Given the description of an element on the screen output the (x, y) to click on. 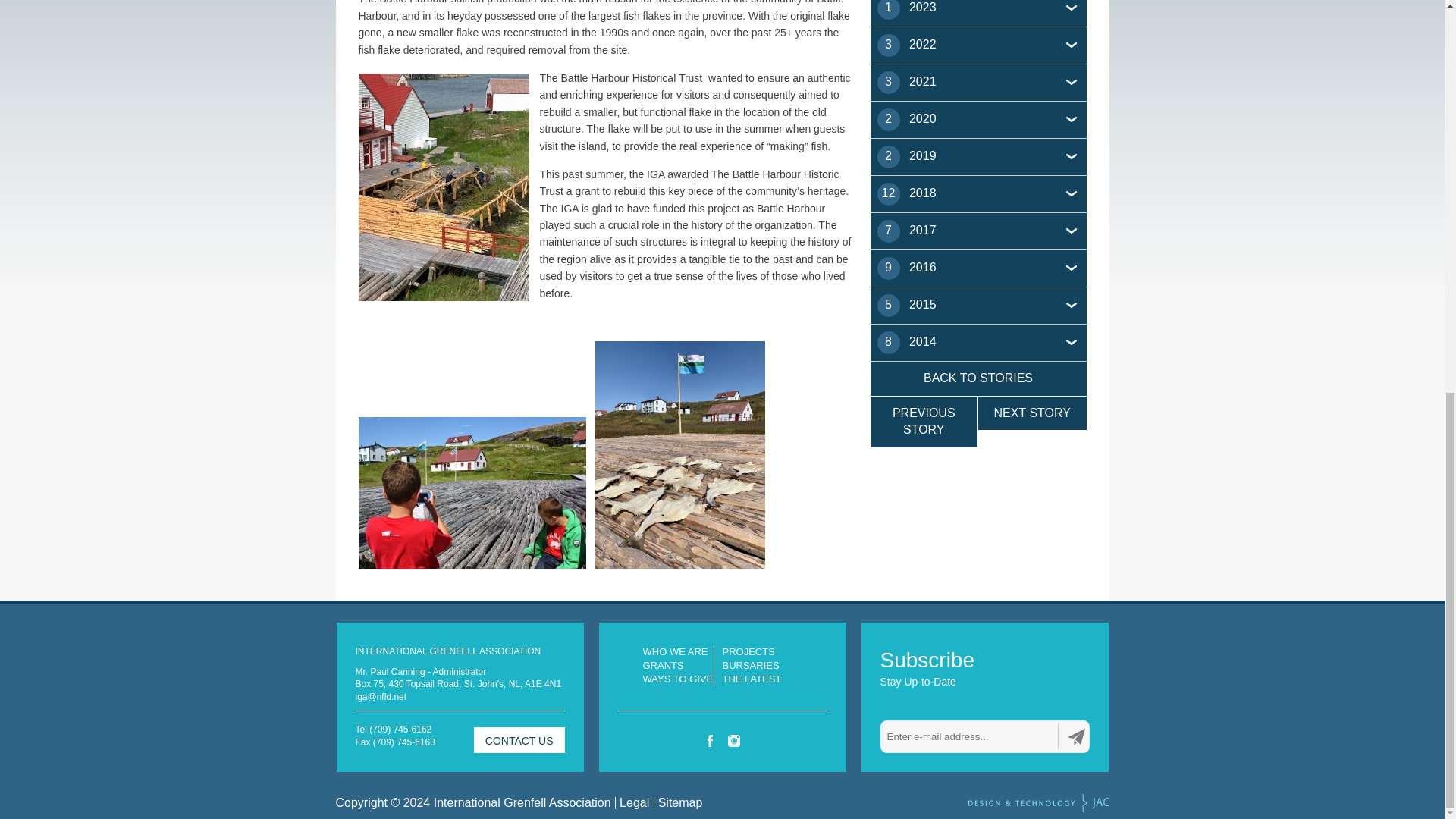
Follow International Grenfell Association on Instagram (733, 740)
Subscribe to updates from IGA (1076, 736)
JAC. We Create. (1038, 802)
Like International Grenfell Association on Facebook (710, 740)
